Given the description of an element on the screen output the (x, y) to click on. 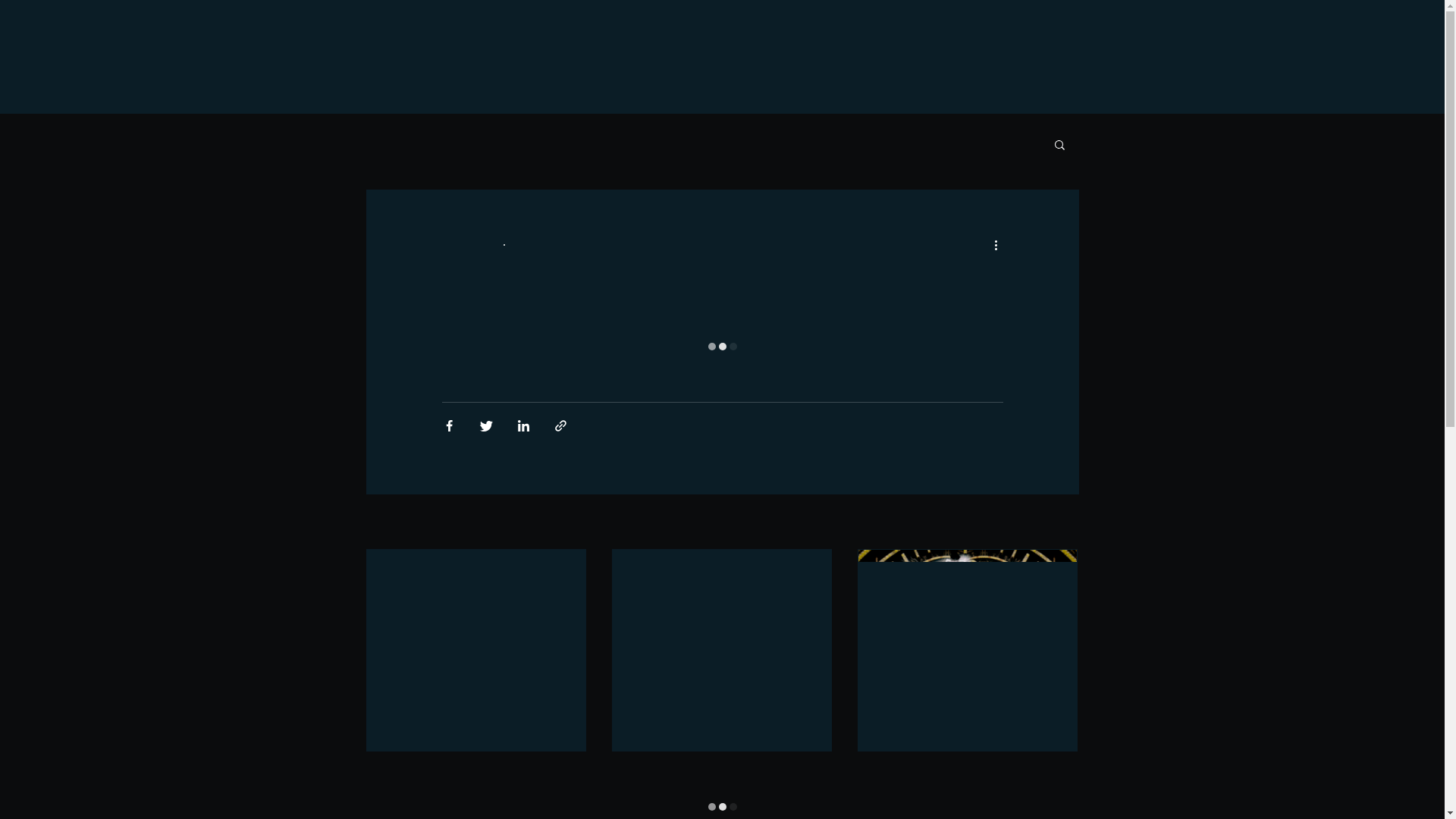
NEXT RELEASE Element type: text (978, 35)
Window On Writing Element type: text (959, 425)
Act Two: Prodigy Duet Element type: text (476, 698)
HOME Element type: text (557, 35)
PATREON Element type: text (633, 35)
Book Tours and Reviews Element type: text (618, 144)
Window On Writing Element type: text (483, 144)
BOOK REVIEWS Element type: text (734, 35)
LATEST REVIEW Element type: text (857, 35)
Introducing the Prodigy Series Element type: text (967, 698)
Act One: Prodigy Rise Element type: text (721, 698)
See All Element type: text (1063, 522)
All Posts Element type: text (386, 144)
